Given the description of an element on the screen output the (x, y) to click on. 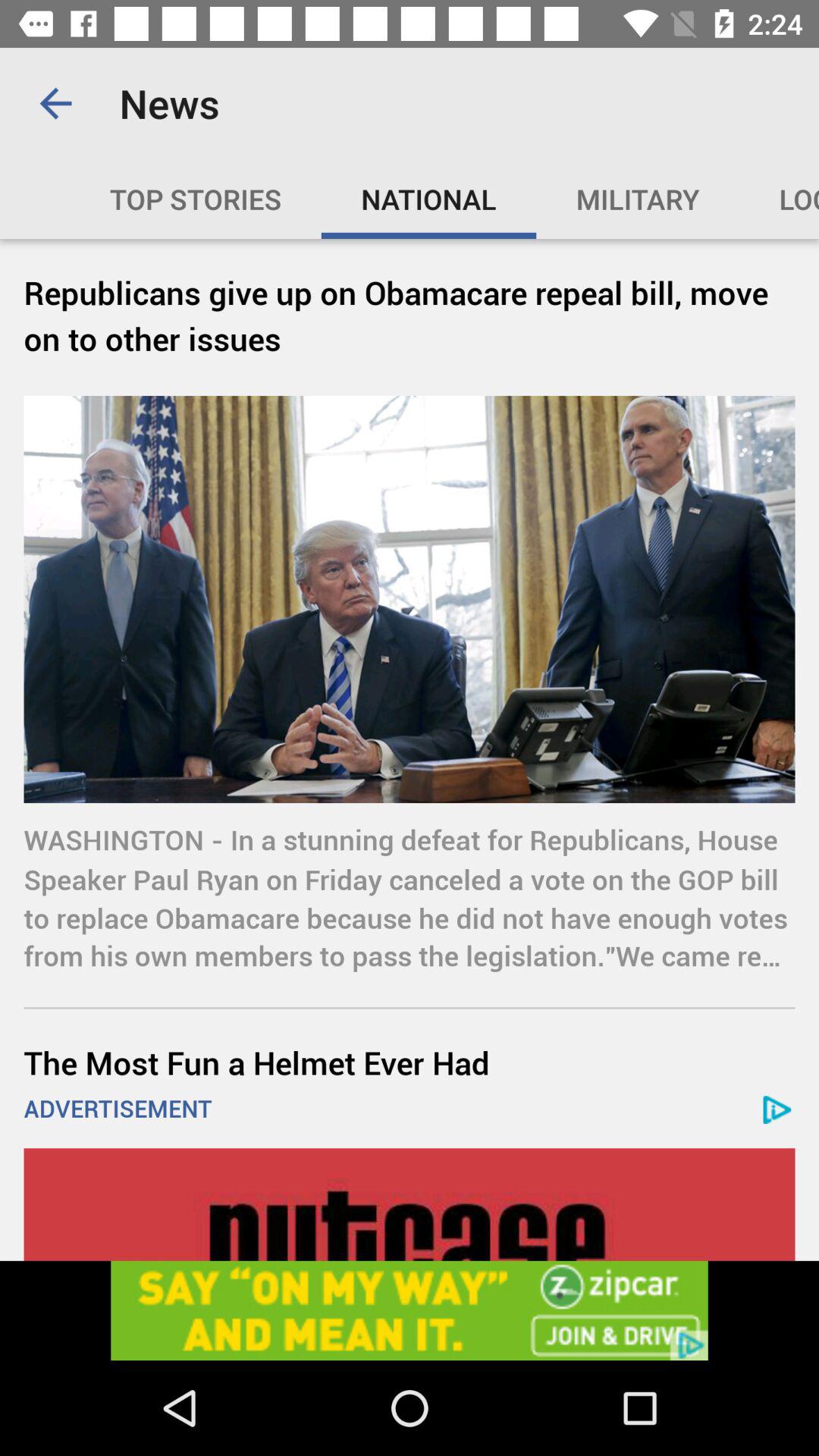
view advertisement (409, 1310)
